Given the description of an element on the screen output the (x, y) to click on. 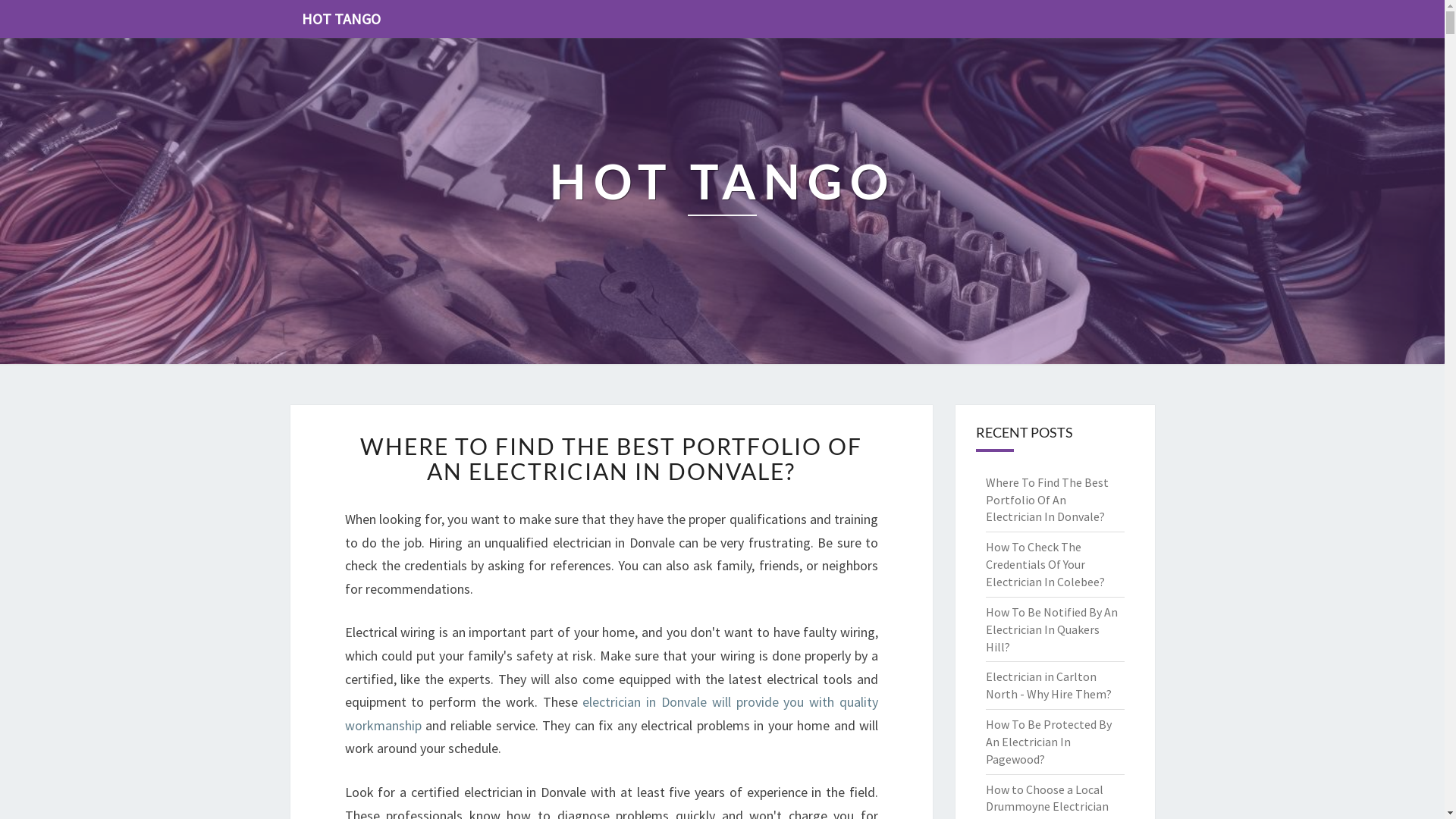
How To Be Protected By An Electrician In Pagewood? Element type: text (1048, 741)
How To Check The Credentials Of Your Electrician In Colebee? Element type: text (1044, 564)
HOT TANGO Element type: text (340, 18)
Electrician in Carlton North - Why Hire Them? Element type: text (1048, 684)
HOT TANGO Element type: text (721, 200)
How To Be Notified By An Electrician In Quakers Hill? Element type: text (1051, 629)
How to Choose a Local Drummoyne Electrician Element type: text (1046, 797)
